Given the description of an element on the screen output the (x, y) to click on. 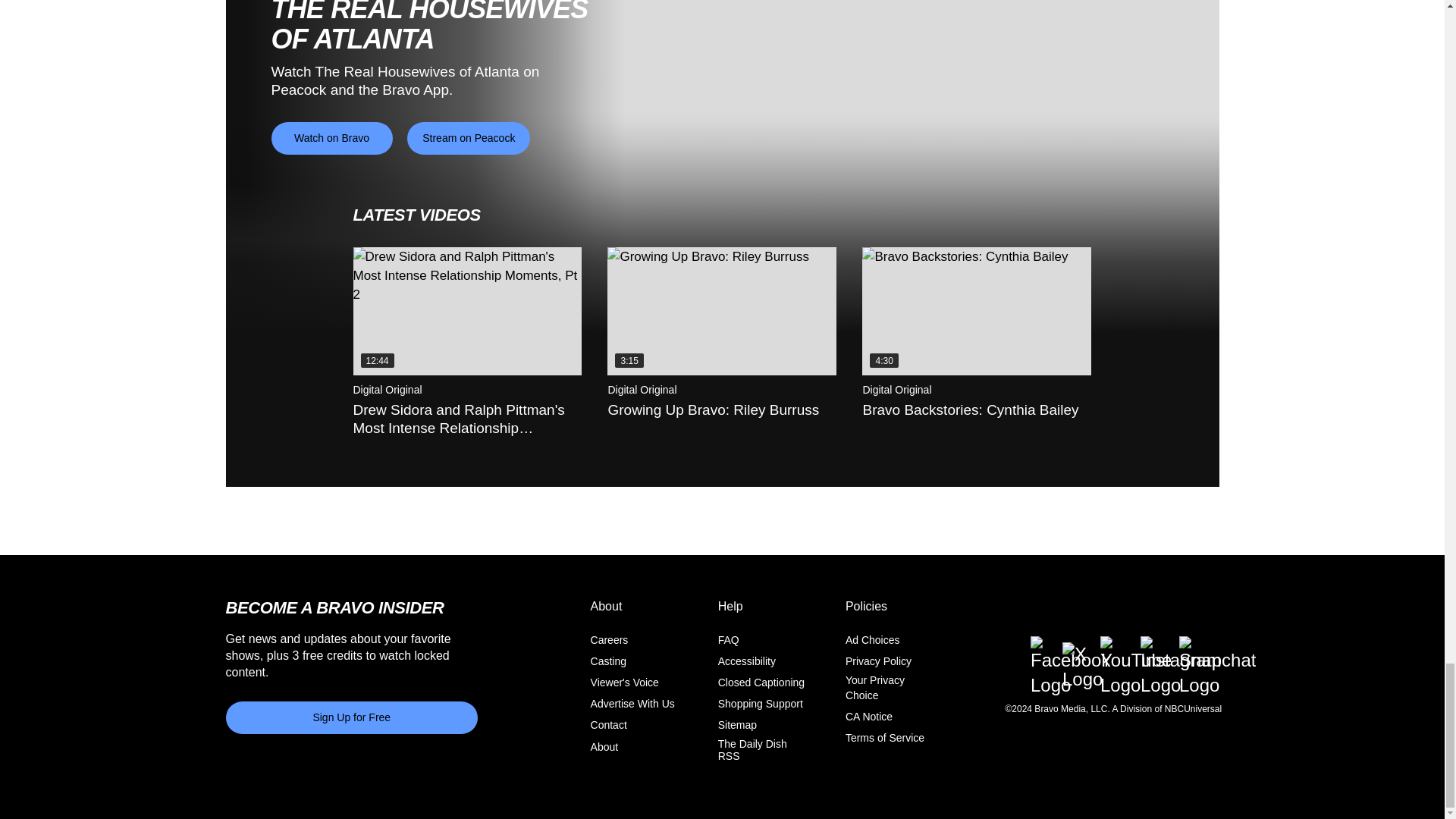
Growing Up Bravo: Riley Burruss (721, 311)
Bravo Backstories: Cynthia Bailey (975, 311)
Advertise With Us (633, 704)
